Given the description of an element on the screen output the (x, y) to click on. 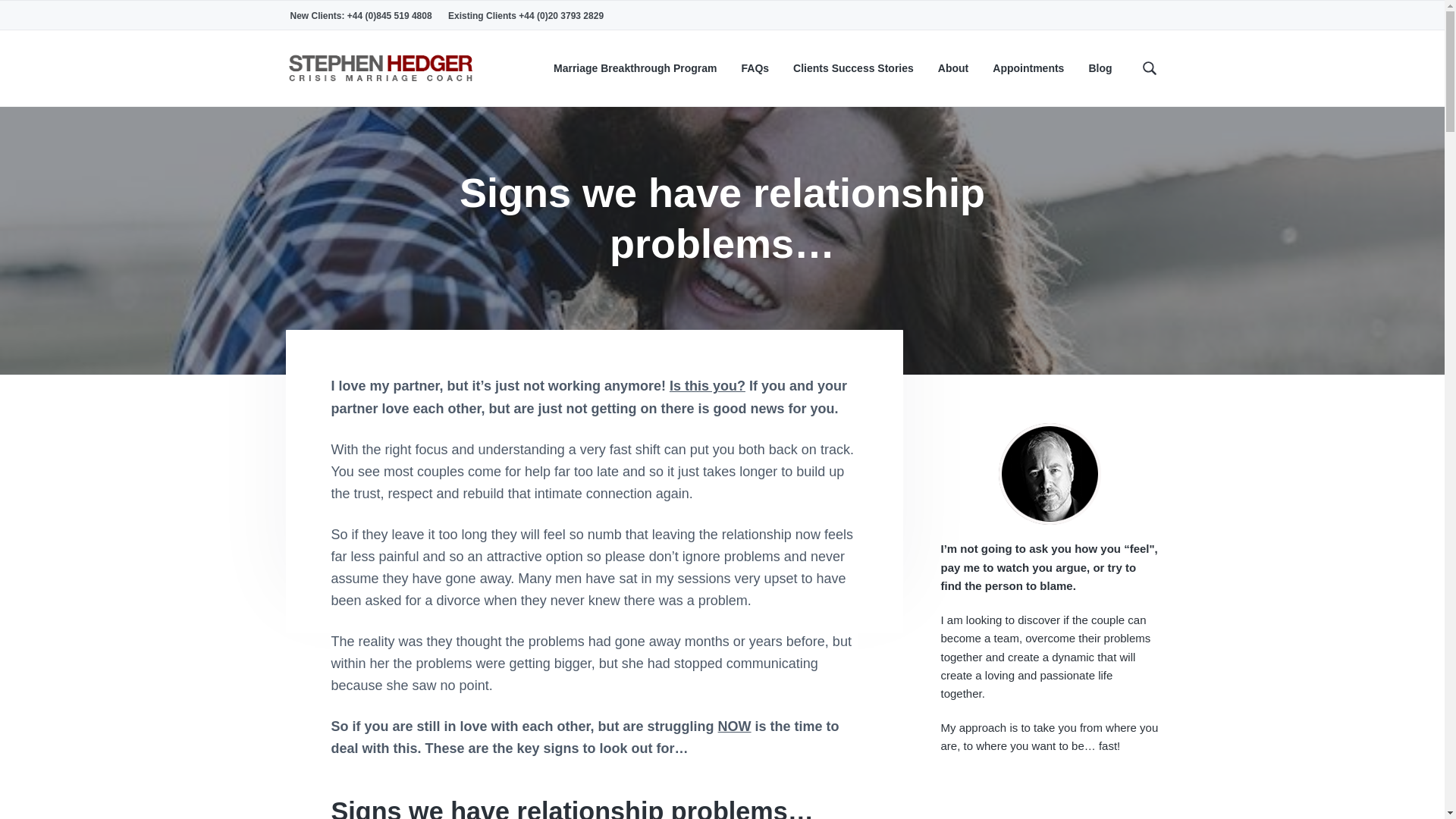
Marriage Breakthrough Program (635, 67)
FAQs (755, 67)
Search (60, 18)
Clients Success Stories (853, 67)
Appointments (1028, 67)
About (952, 67)
Blog (1099, 67)
